Given the description of an element on the screen output the (x, y) to click on. 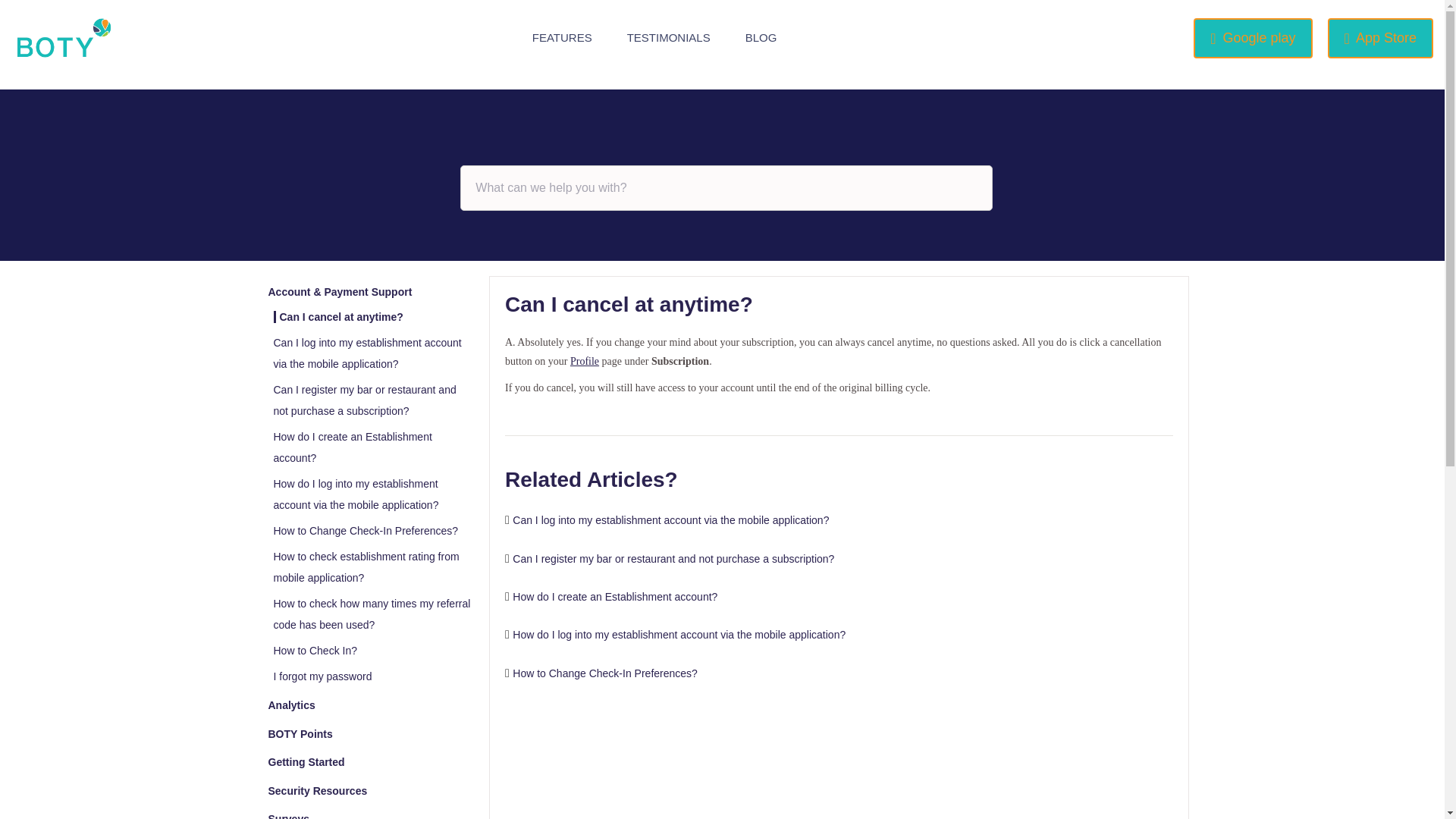
TESTIMONIALS (668, 37)
How to check how many times my referral code has been used? (371, 614)
Google play (1252, 38)
How to check establishment rating from mobile application? (365, 566)
FEATURES (562, 37)
I forgot my password (322, 676)
How do I create an Establishment account? (351, 447)
BOTY Points (299, 734)
How do I create an Establishment account? (614, 596)
App Store (1379, 38)
